Given the description of an element on the screen output the (x, y) to click on. 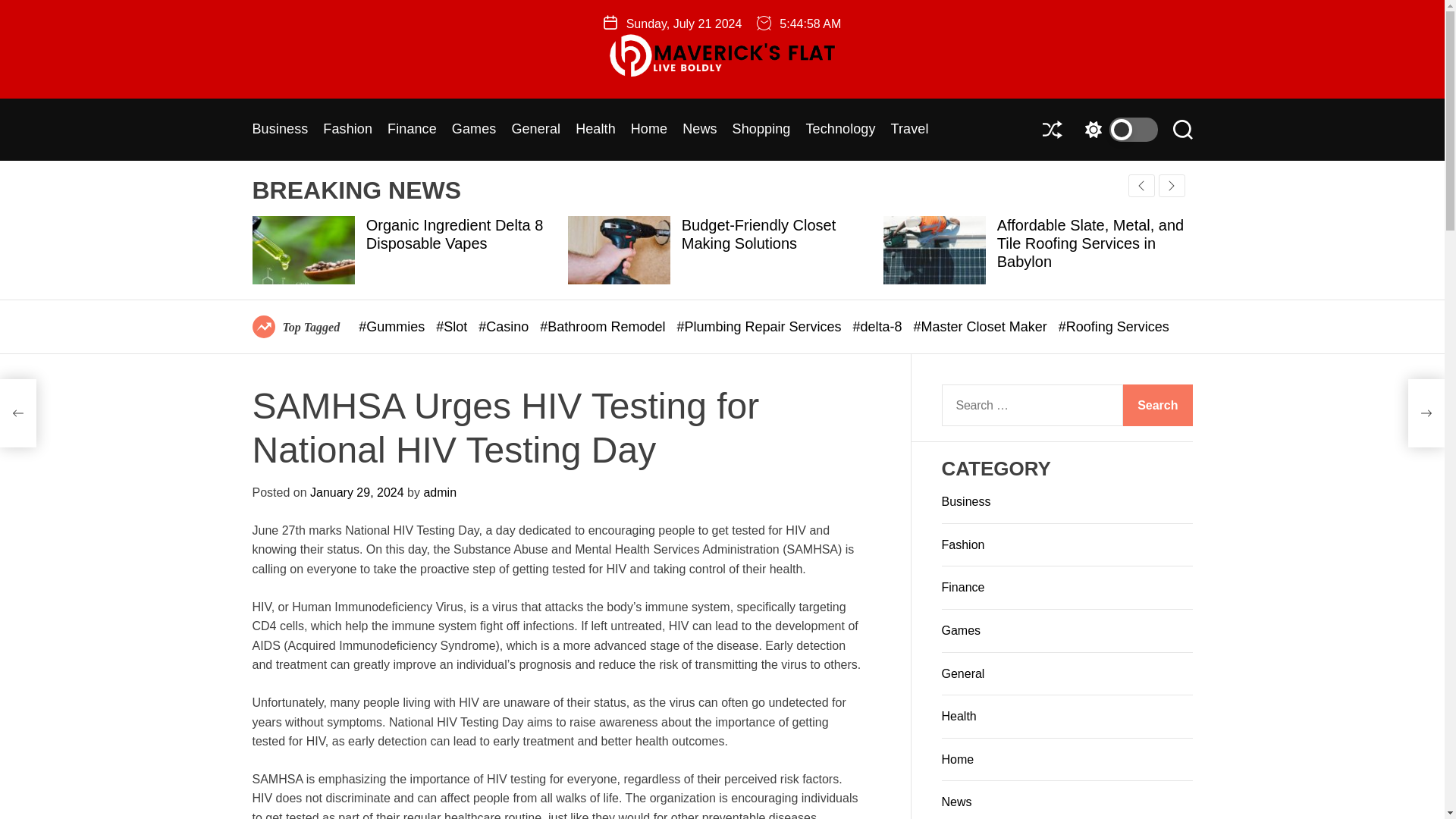
Games (473, 129)
Organic Ingredient Delta 8 Disposable Vapes (454, 234)
News (699, 129)
Health (595, 129)
Search (1157, 404)
Budget-Friendly Closet Making Solutions (758, 234)
General (535, 129)
Fashion (347, 129)
Switch color mode (1117, 129)
Technology (840, 129)
Travel (909, 129)
Finance (411, 129)
Search (1157, 404)
Home (648, 129)
